Given the description of an element on the screen output the (x, y) to click on. 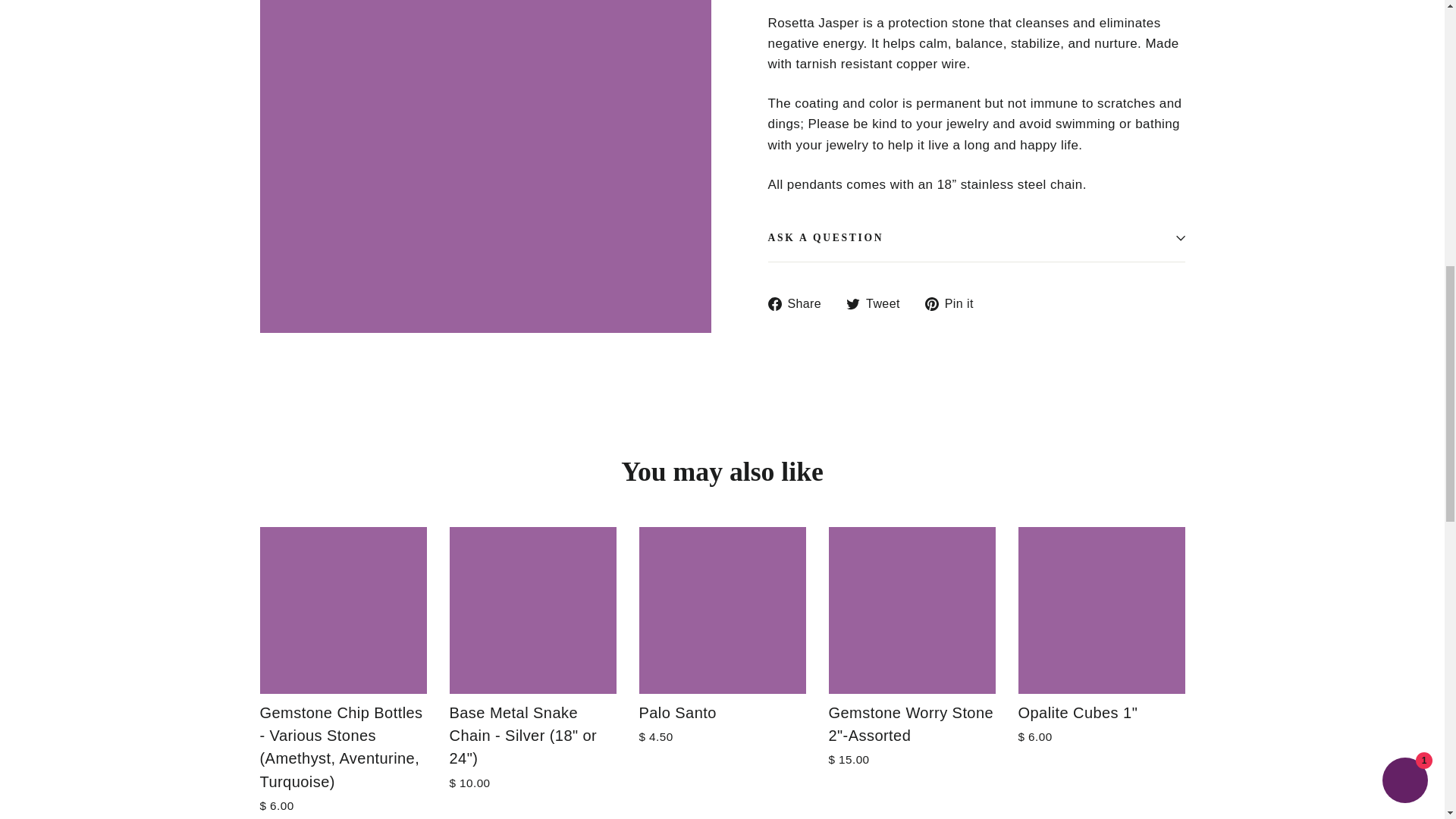
Tweet on Twitter (878, 303)
Share on Facebook (799, 303)
Pin on Pinterest (954, 303)
